Given the description of an element on the screen output the (x, y) to click on. 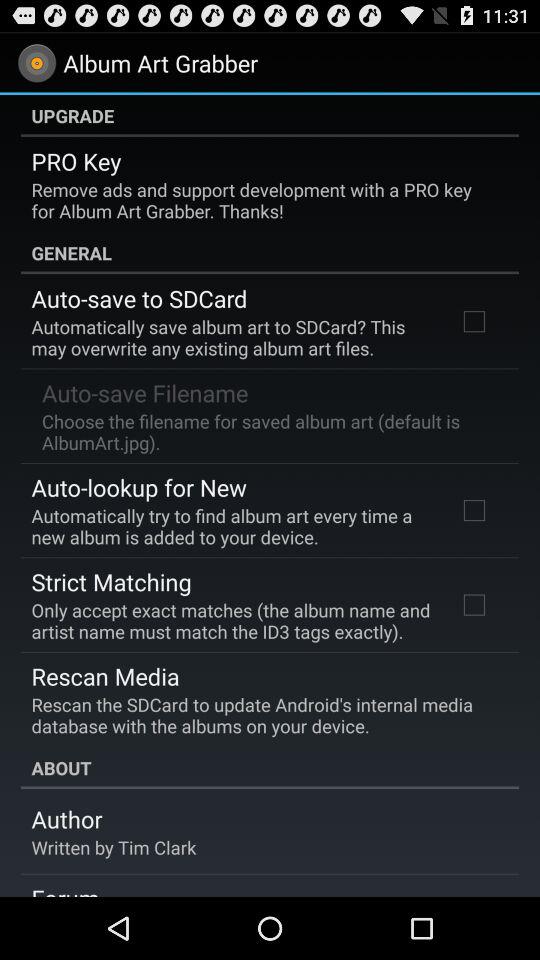
scroll until the forum item (65, 889)
